Given the description of an element on the screen output the (x, y) to click on. 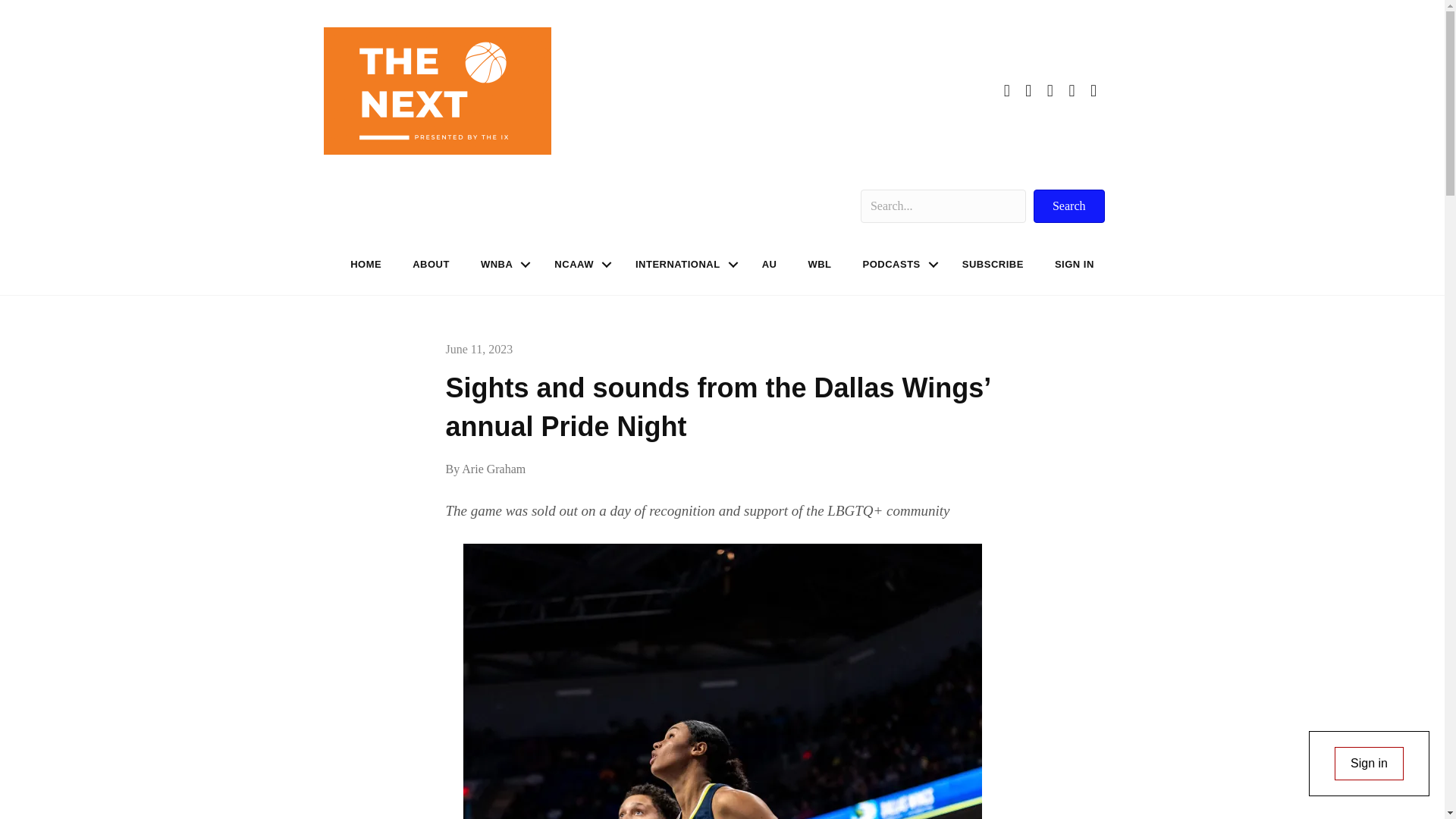
Screen Shot 2023-11-14 at 9.55.24 PM (436, 90)
